Given the description of an element on the screen output the (x, y) to click on. 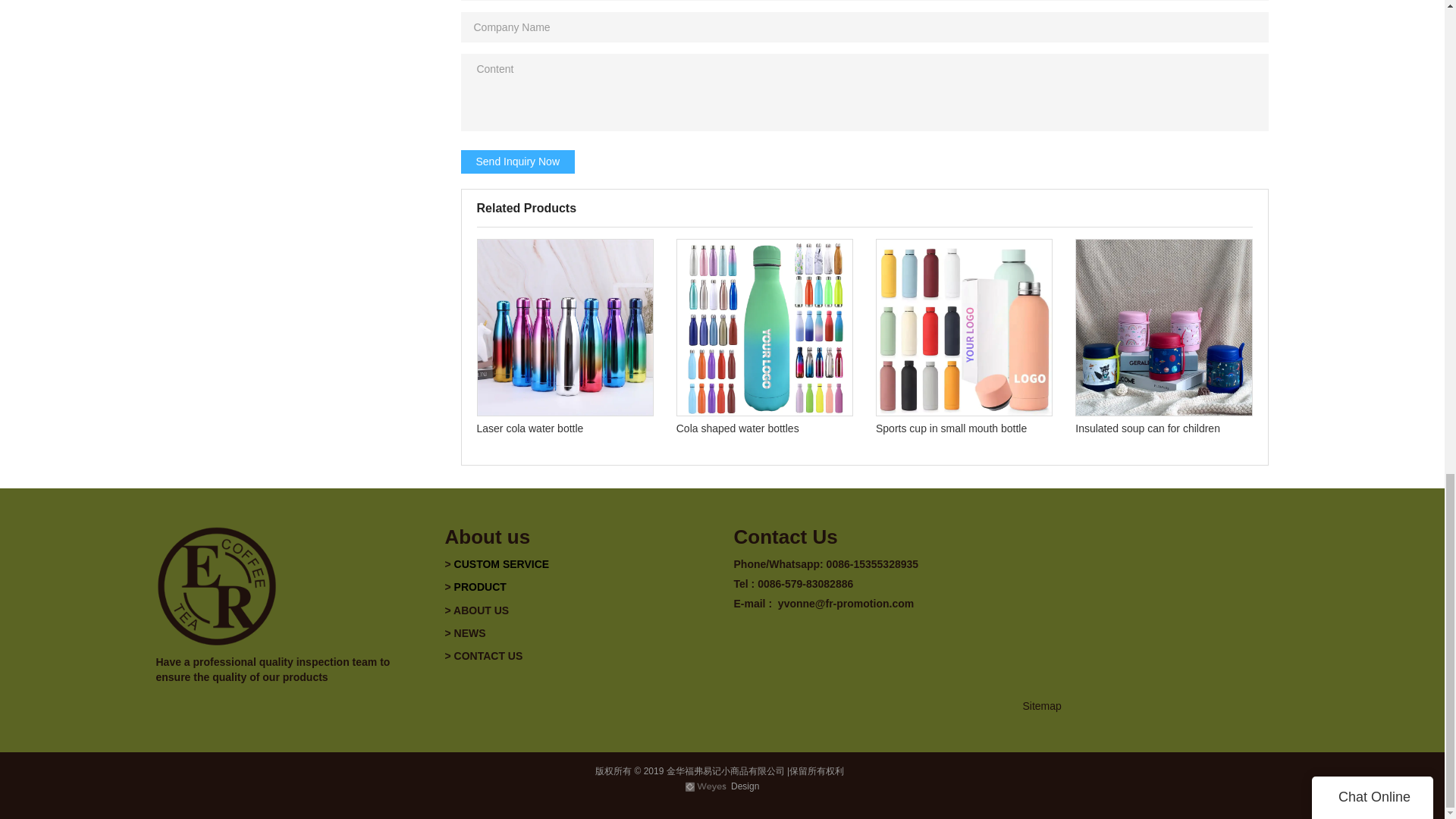
Send Inquiry Now (518, 161)
